Given the description of an element on the screen output the (x, y) to click on. 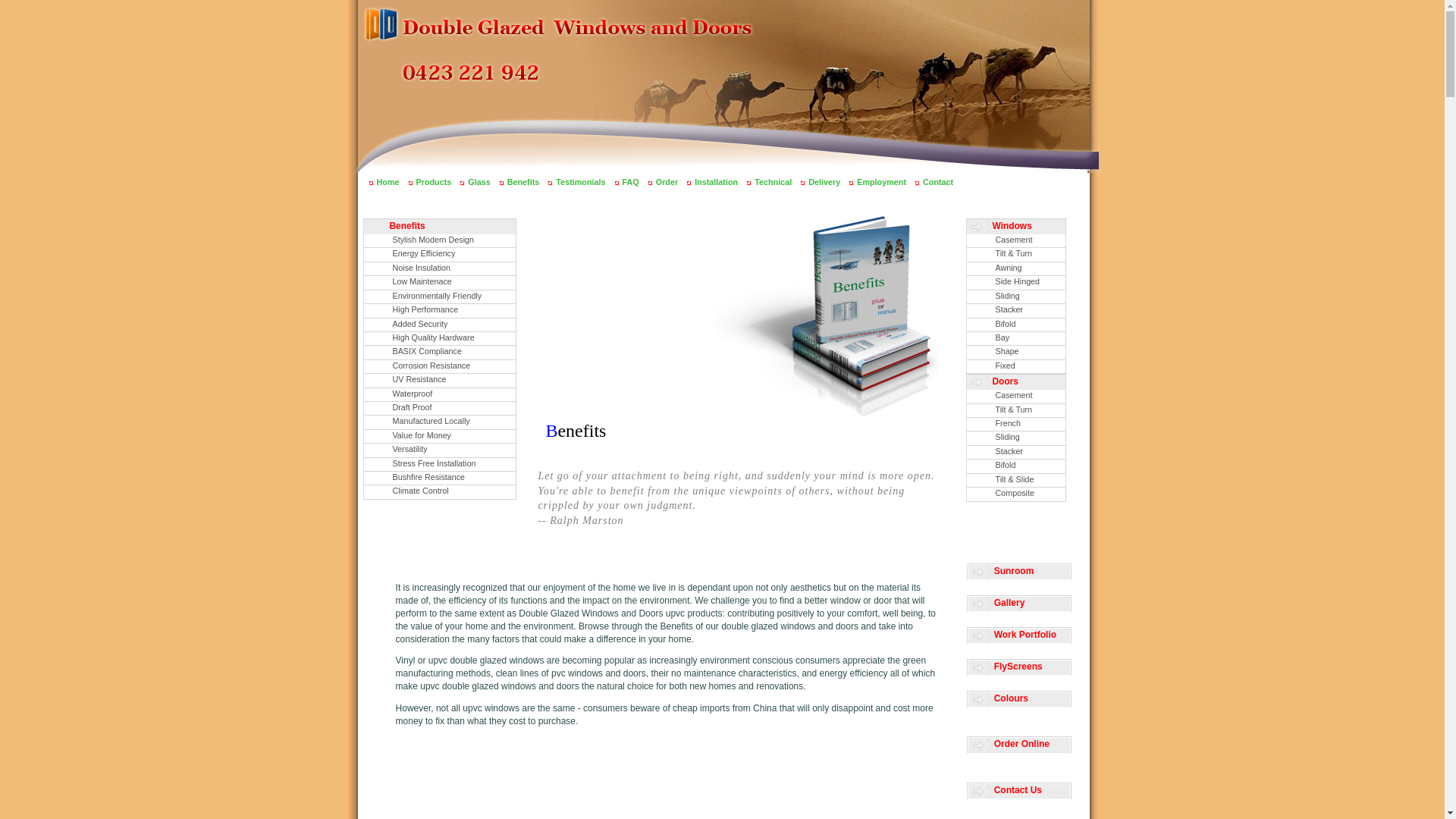
Tilt & Turn Element type: text (1015, 253)
UV Resistance Element type: text (439, 379)
Bay Element type: text (1015, 338)
Bifold Element type: text (1015, 465)
Energy Efficiency Element type: text (439, 253)
Work Portfolio Element type: text (1019, 635)
Casement Element type: text (1015, 240)
Installation Element type: text (715, 181)
Bifold Element type: text (1015, 324)
Stacker Element type: text (1015, 310)
Benefits Element type: text (439, 226)
Fixed Element type: text (1015, 366)
Shape Element type: text (1015, 351)
Tilt & Slide Element type: text (1015, 479)
Value for Money Element type: text (439, 435)
Added Security Element type: text (439, 324)
Technical Element type: text (772, 181)
Side Hinged Element type: text (1015, 282)
Stacker Element type: text (1015, 451)
Stress Free Installation Element type: text (439, 464)
Home Element type: text (387, 181)
Awning Element type: text (1015, 268)
Environmentally Friendly Element type: text (439, 296)
Noise Insulation Element type: text (439, 268)
Draft Proof Element type: text (439, 407)
Delivery Element type: text (824, 181)
Sliding Element type: text (1015, 296)
Casement Element type: text (1015, 395)
FlyScreens Element type: text (1019, 667)
Products Element type: text (433, 181)
Contact Element type: text (937, 181)
Order Online Element type: text (1019, 744)
French Element type: text (1015, 423)
FAQ Element type: text (630, 181)
Colours Element type: text (1019, 699)
Climate Control Element type: text (439, 491)
Composite Element type: text (1015, 493)
Gallery Element type: text (1019, 603)
Corrosion Resistance Element type: text (439, 366)
Waterproof Element type: text (439, 394)
Sliding Element type: text (1015, 437)
Contact Us Element type: text (1019, 791)
Windows Element type: text (1015, 226)
Versatility Element type: text (439, 449)
Glass Element type: text (478, 181)
Testimonials Element type: text (580, 181)
High Performance Element type: text (439, 310)
Bushfire Resistance Element type: text (439, 477)
Low Maintenace Element type: text (439, 282)
Order Element type: text (666, 181)
Manufactured Locally Element type: text (439, 421)
Stylish Modern Design Element type: text (439, 240)
BASIX Compliance Element type: text (439, 351)
Sunroom Element type: text (1019, 571)
Employment Element type: text (881, 181)
High Quality Hardware Element type: text (439, 338)
Doors Element type: text (1015, 381)
Tilt & Turn Element type: text (1015, 410)
Benefits Element type: text (523, 181)
